Given the description of an element on the screen output the (x, y) to click on. 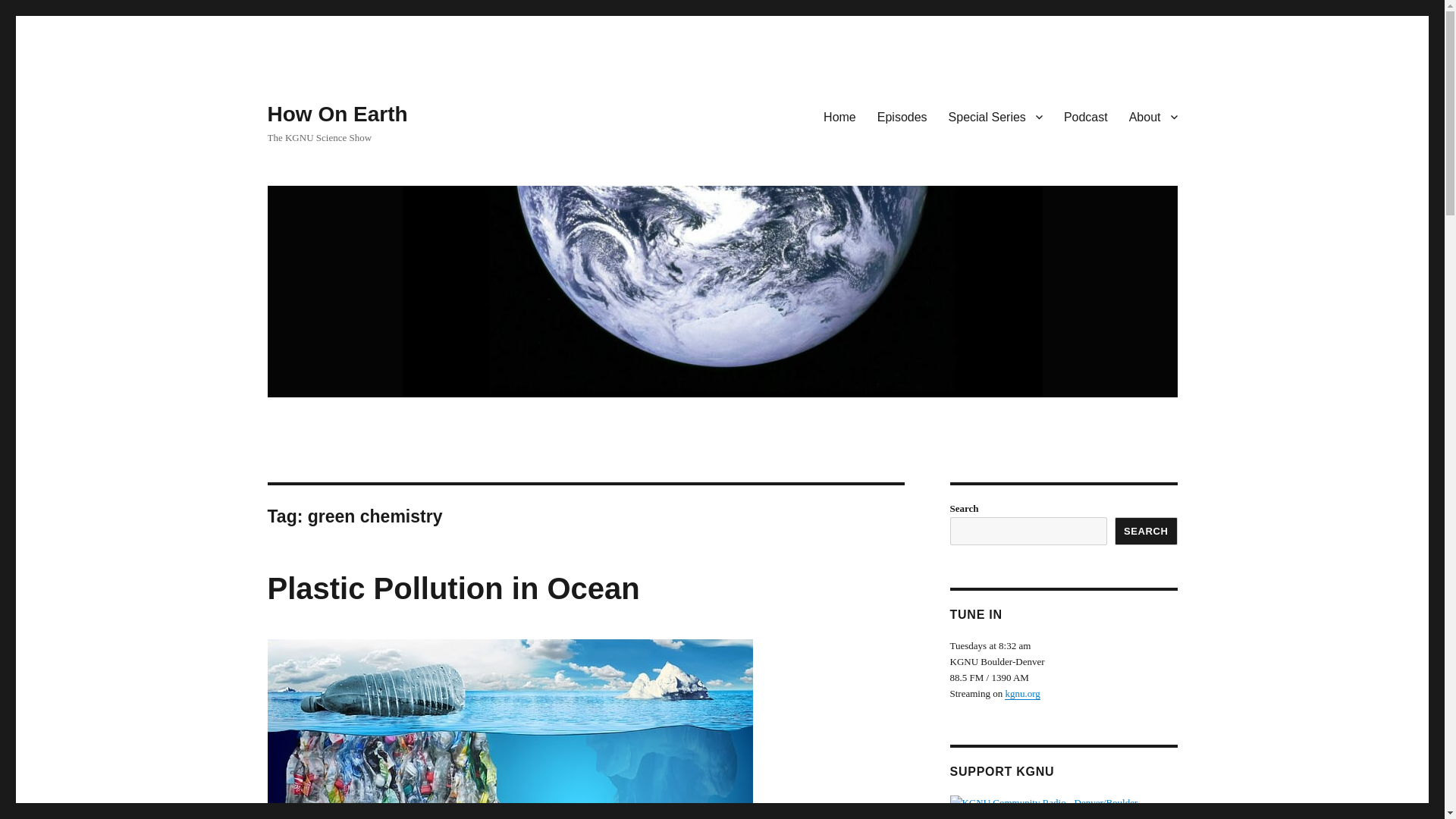
How On Earth (336, 114)
Home (839, 116)
Episodes (901, 116)
Podcast (1085, 116)
About (1153, 116)
Special Series (994, 116)
Plastic Pollution in Ocean (452, 588)
